Given the description of an element on the screen output the (x, y) to click on. 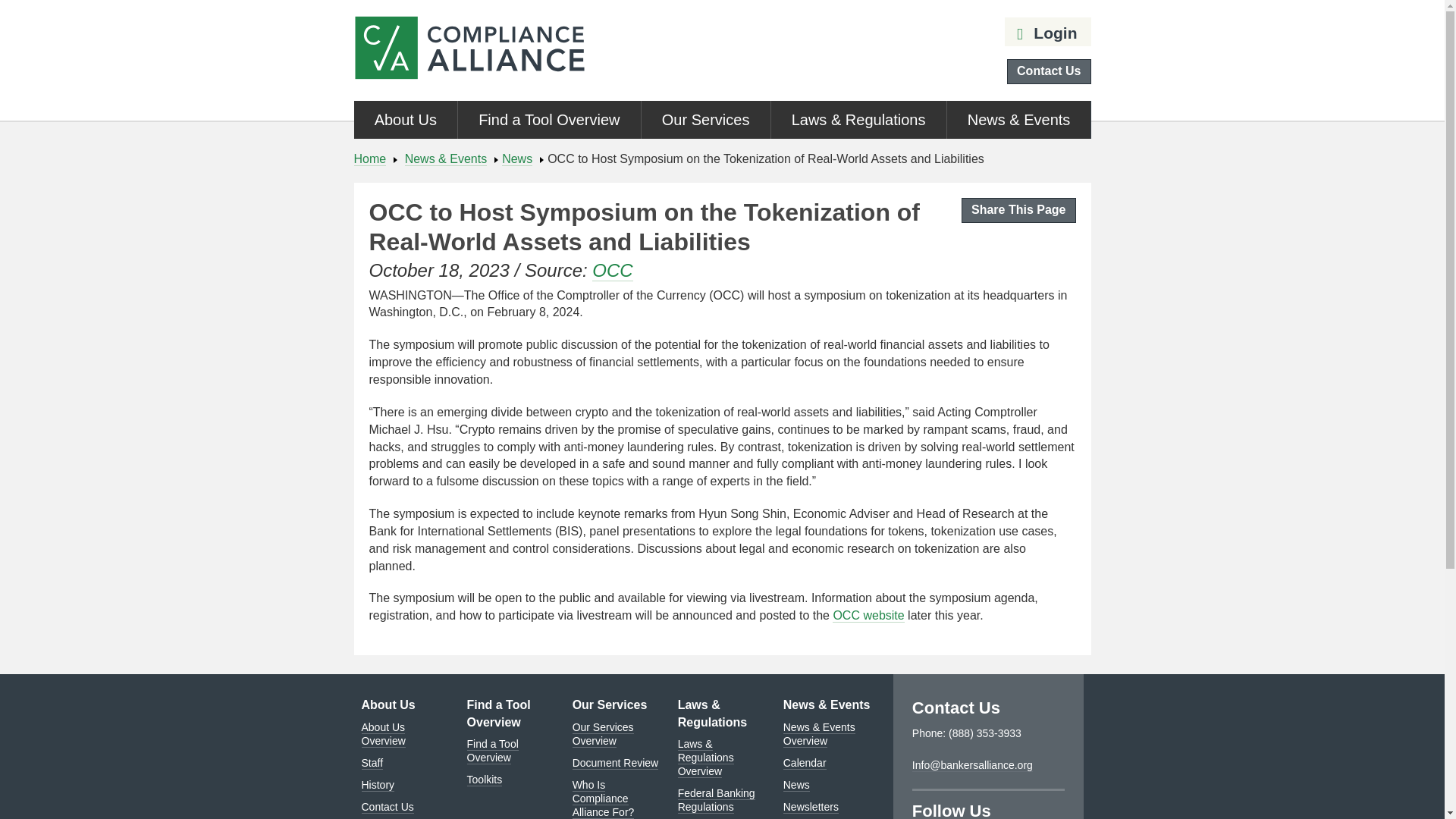
Find a Tool Overview (549, 119)
Contact Us (1048, 71)
News (517, 159)
About Us (405, 119)
OCC (611, 270)
Login (1045, 32)
Compliance Alliance (469, 50)
About Us Overview (382, 733)
Home (369, 159)
Staff (371, 762)
About Us (387, 704)
Our Services (706, 119)
History (377, 784)
OCC website (868, 615)
